Given the description of an element on the screen output the (x, y) to click on. 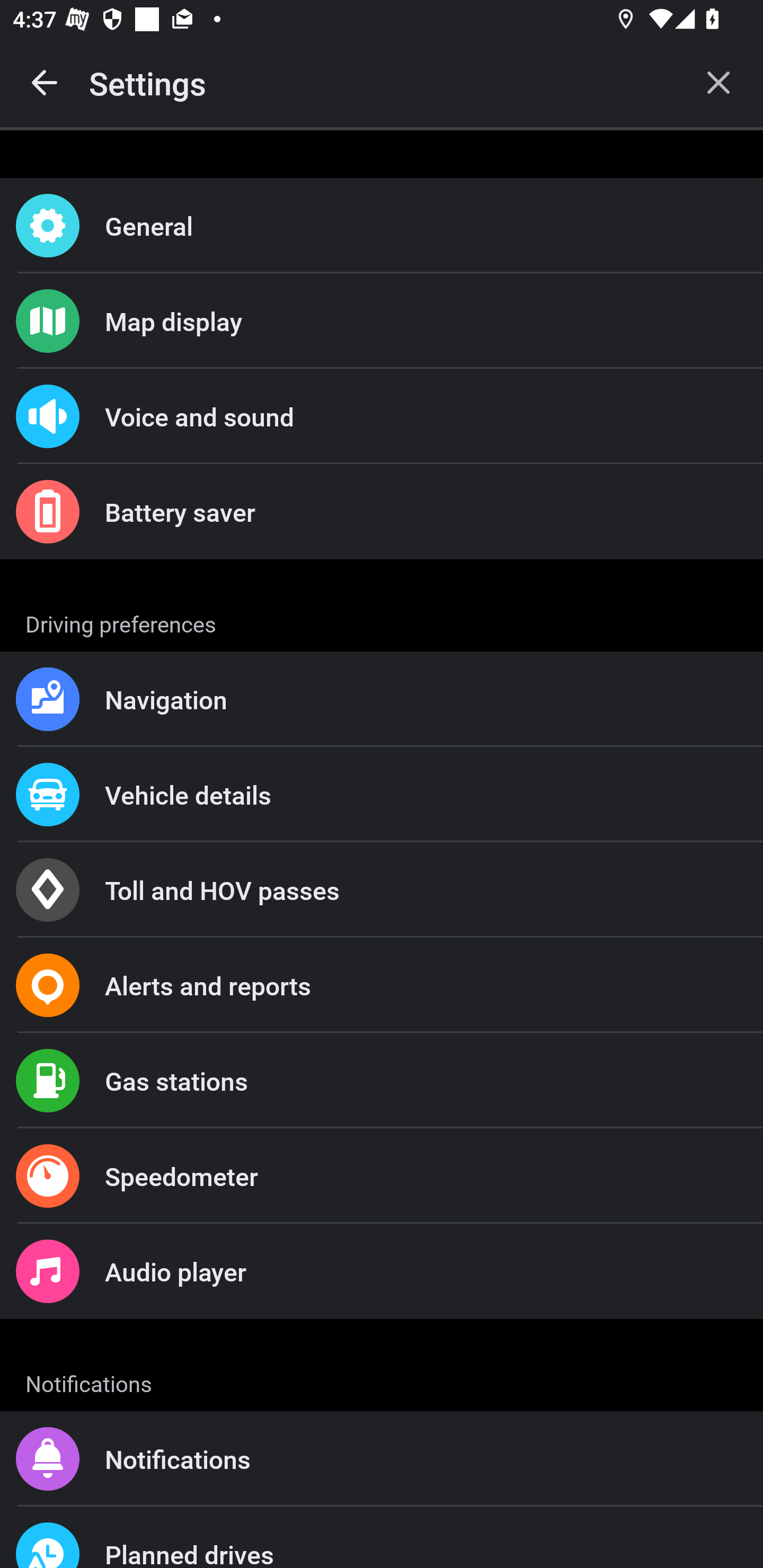
General (381, 225)
Map display (381, 320)
Voice and sound (381, 416)
Battery saver (381, 511)
ACTION_CELL_ICON Settings ACTION_CELL_TEXT (381, 620)
Navigation (381, 699)
Vehicle details (381, 794)
Toll and HOV passes (381, 889)
Alerts and reports (381, 985)
Gas stations (381, 1080)
Speedometer (381, 1175)
Audio player (381, 1270)
